Given the description of an element on the screen output the (x, y) to click on. 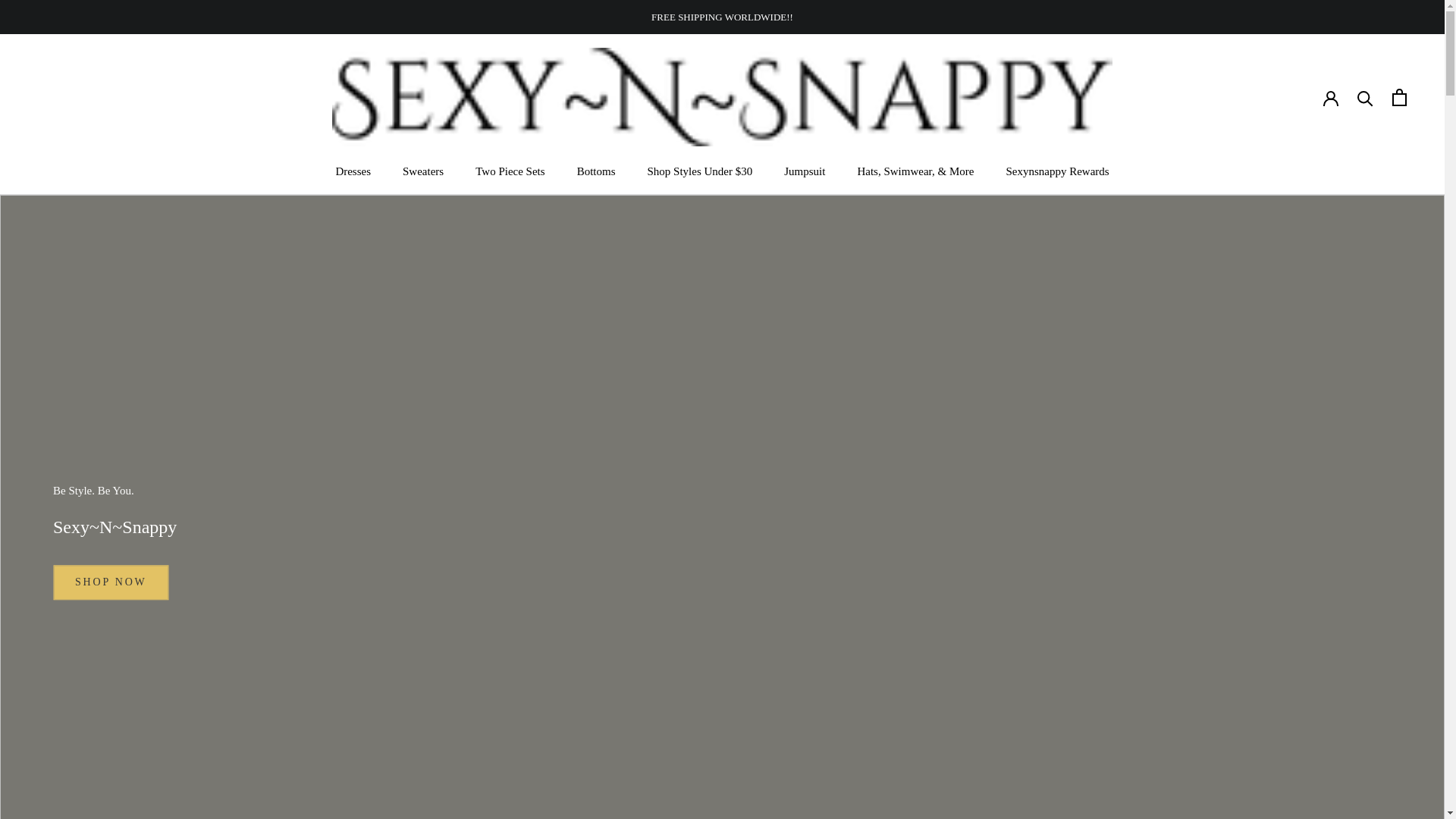
Dresses (352, 171)
Sweaters (595, 171)
Two Piece Sets (804, 171)
FREE SHIPPING WORLDWIDE!! (423, 171)
